Given the description of an element on the screen output the (x, y) to click on. 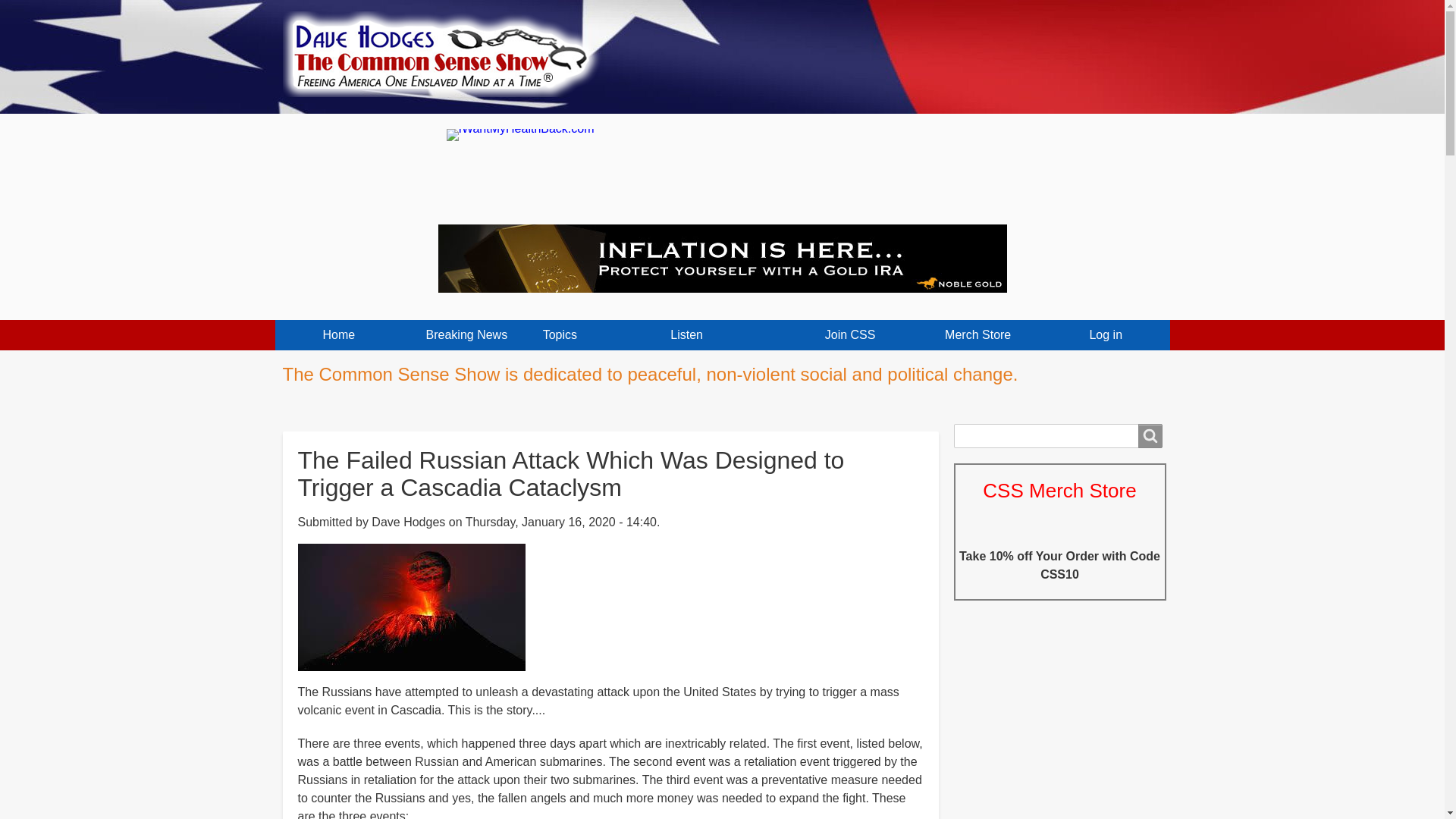
Log in (1106, 335)
Search (1149, 435)
Home (447, 48)
Noble Gold (721, 258)
Merch Store (978, 335)
Home (339, 335)
Search (1149, 435)
Breaking News (467, 335)
Join CSS (850, 335)
